Given the description of an element on the screen output the (x, y) to click on. 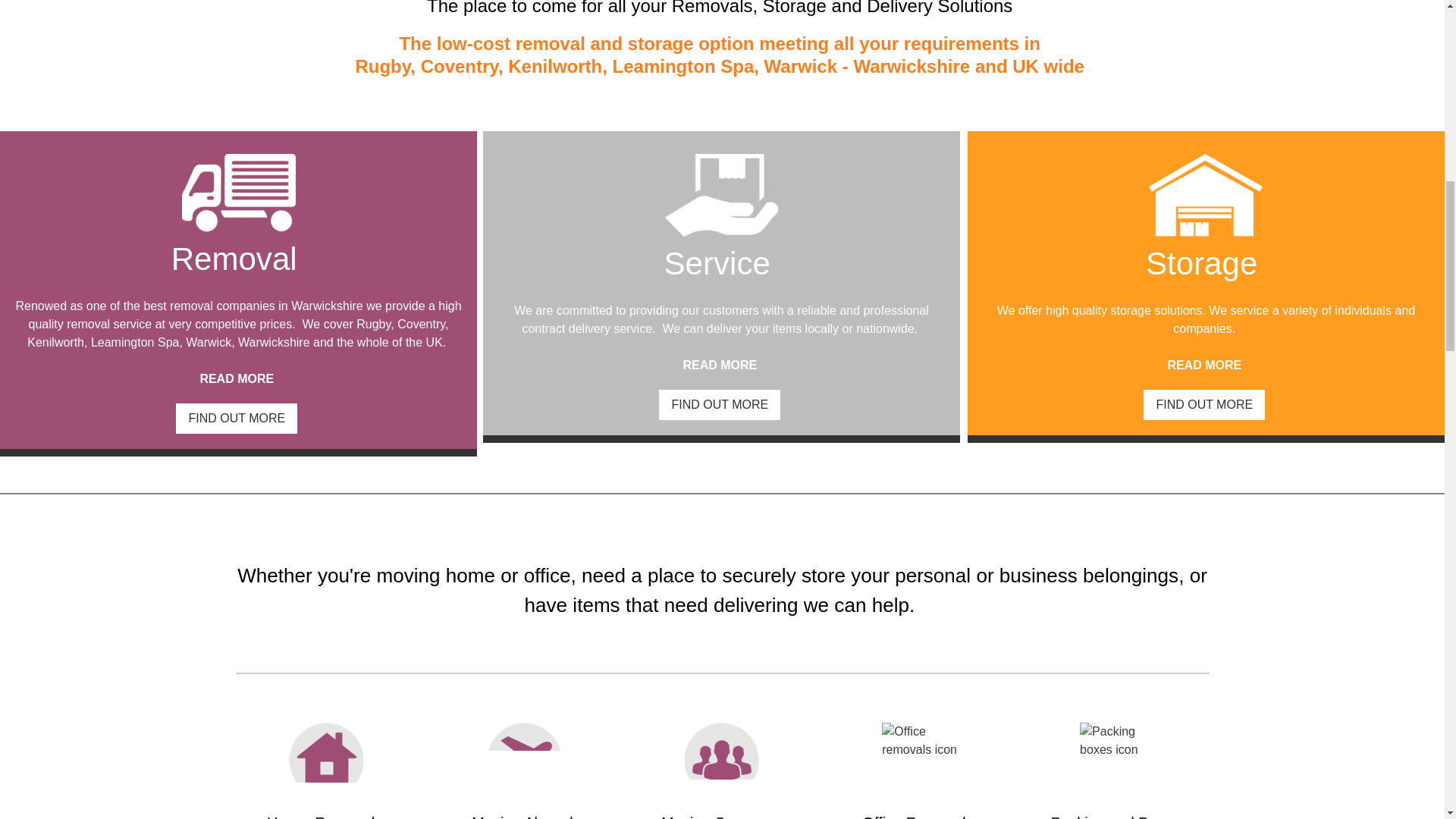
FIND OUT MORE (1203, 404)
FIND OUT MORE (236, 418)
FIND OUT MORE (719, 404)
